Given the description of an element on the screen output the (x, y) to click on. 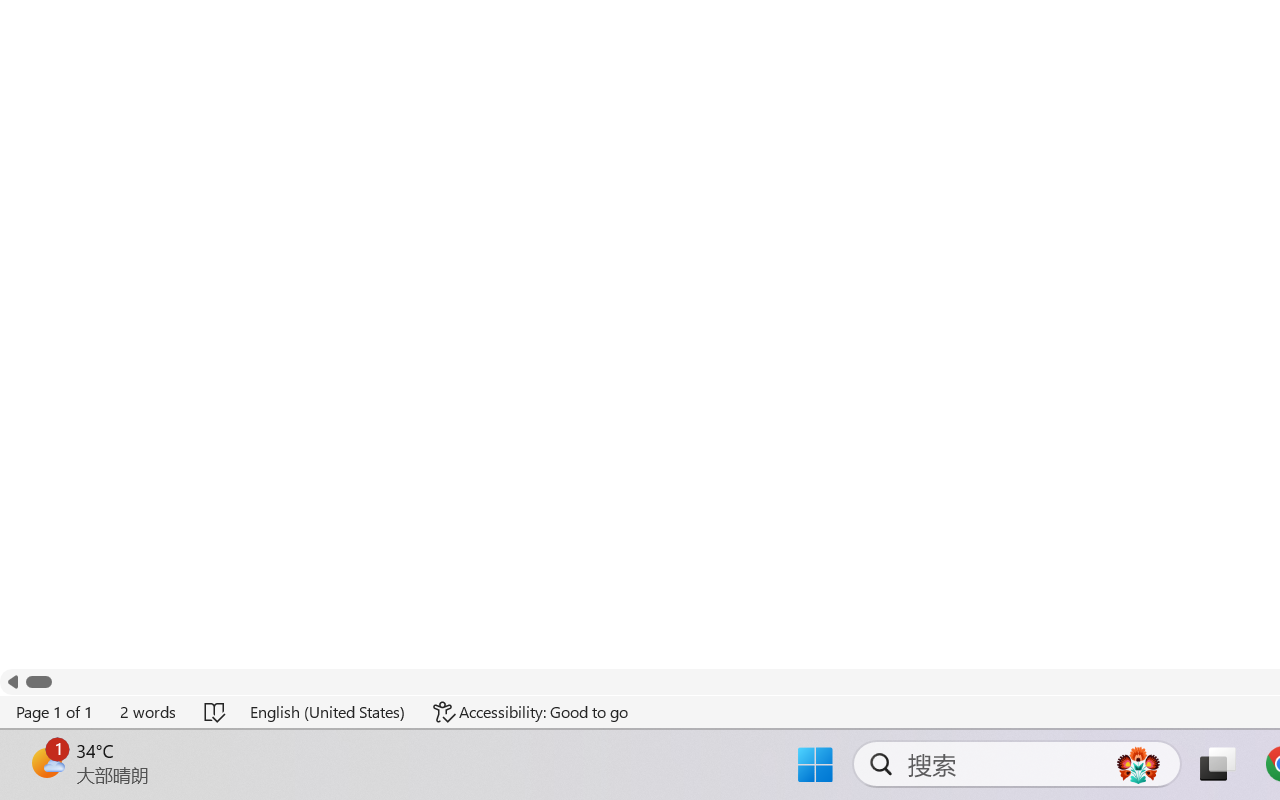
Accessibility Checker Accessibility: Good to go (531, 712)
Column left (12, 681)
AutomationID: DynamicSearchBoxGleamImage (1138, 764)
Spelling and Grammar Check No Errors (216, 712)
Language English (United States) (328, 712)
Word Count 2 words (149, 712)
Page Number Page 1 of 1 (55, 712)
AutomationID: BadgeAnchorLargeTicker (46, 762)
